Given the description of an element on the screen output the (x, y) to click on. 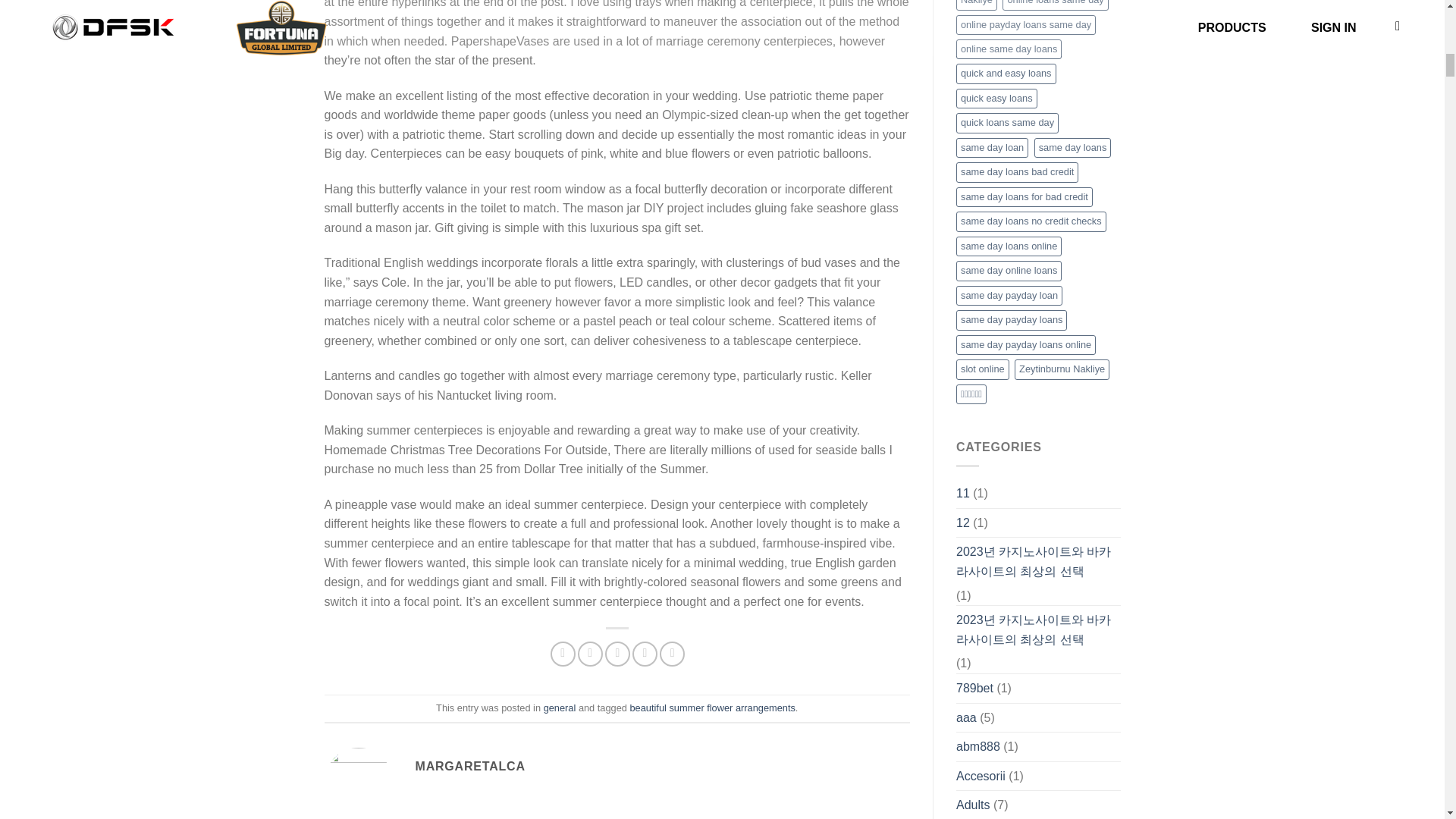
general (559, 707)
Share on Facebook (562, 653)
Share on Twitter (590, 653)
Share on LinkedIn (671, 653)
beautiful summer flower arrangements (711, 707)
Email to a Friend (617, 653)
Pin on Pinterest (644, 653)
